Given the description of an element on the screen output the (x, y) to click on. 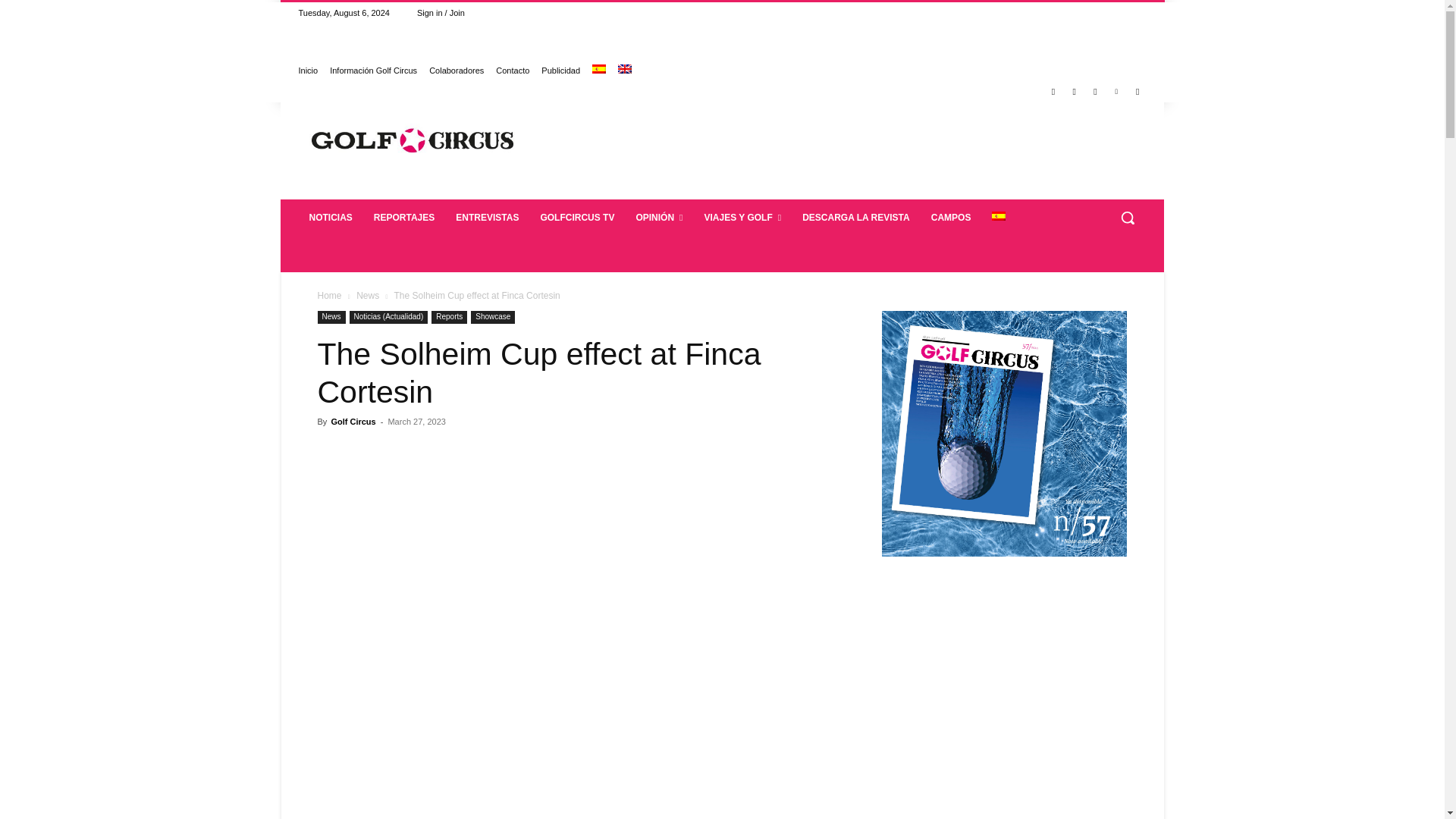
Colaboradores (456, 70)
Vimeo (1116, 91)
Inicio (308, 70)
Golf Circus (412, 140)
Youtube (1138, 91)
View all posts in News (367, 295)
Facebook (1053, 91)
Contacto (512, 70)
Instagram (1074, 91)
Twitter (1094, 91)
Golf Circus (411, 140)
